Given the description of an element on the screen output the (x, y) to click on. 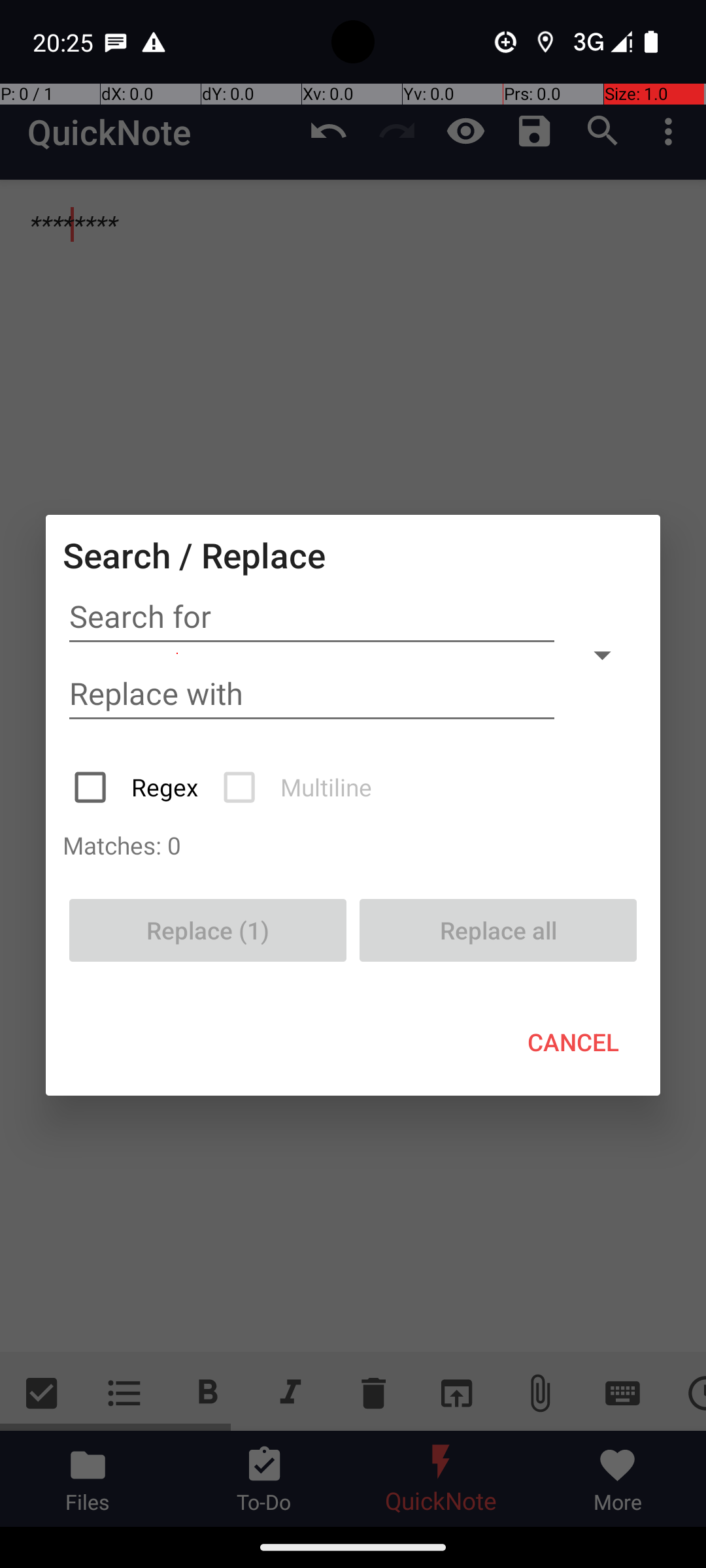
Search / Replace Element type: android.widget.TextView (193, 554)
Search for Element type: android.widget.EditText (311, 616)
Replace with Element type: android.widget.EditText (311, 693)
Choose format Element type: android.widget.TextView (601, 654)
Regex Element type: android.widget.CheckBox (136, 786)
Multiline Element type: android.widget.CheckBox (298, 786)
Matches: 0 Element type: android.widget.TextView (352, 844)
Replace (1) Element type: android.widget.Button (207, 930)
Replace all Element type: android.widget.Button (498, 930)
20:25 Element type: android.widget.TextView (64, 41)
